Given the description of an element on the screen output the (x, y) to click on. 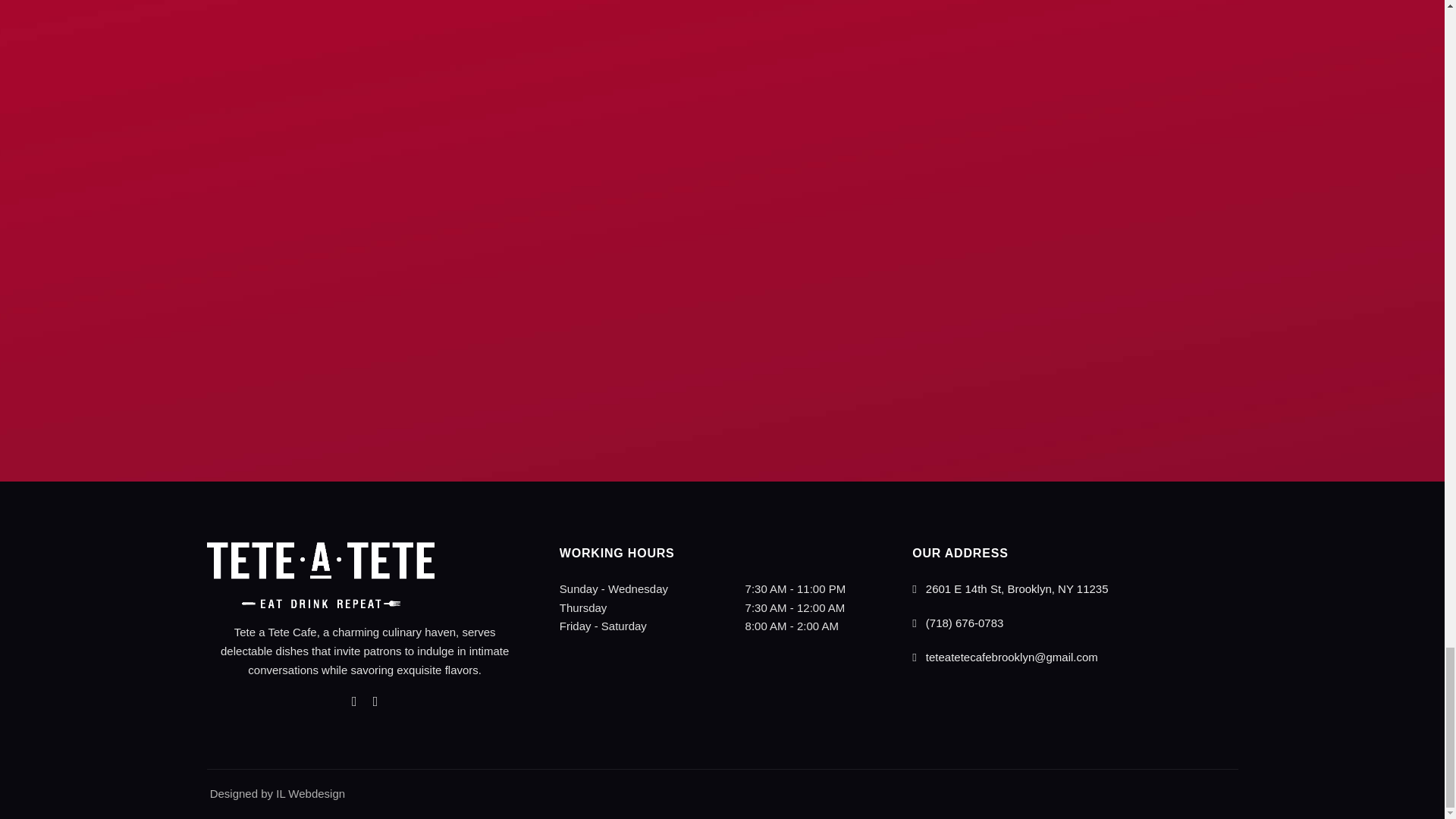
 Designed by IL Webdesign (275, 793)
2601 E 14th St, Brooklyn, NY 11235 (1010, 588)
